Given the description of an element on the screen output the (x, y) to click on. 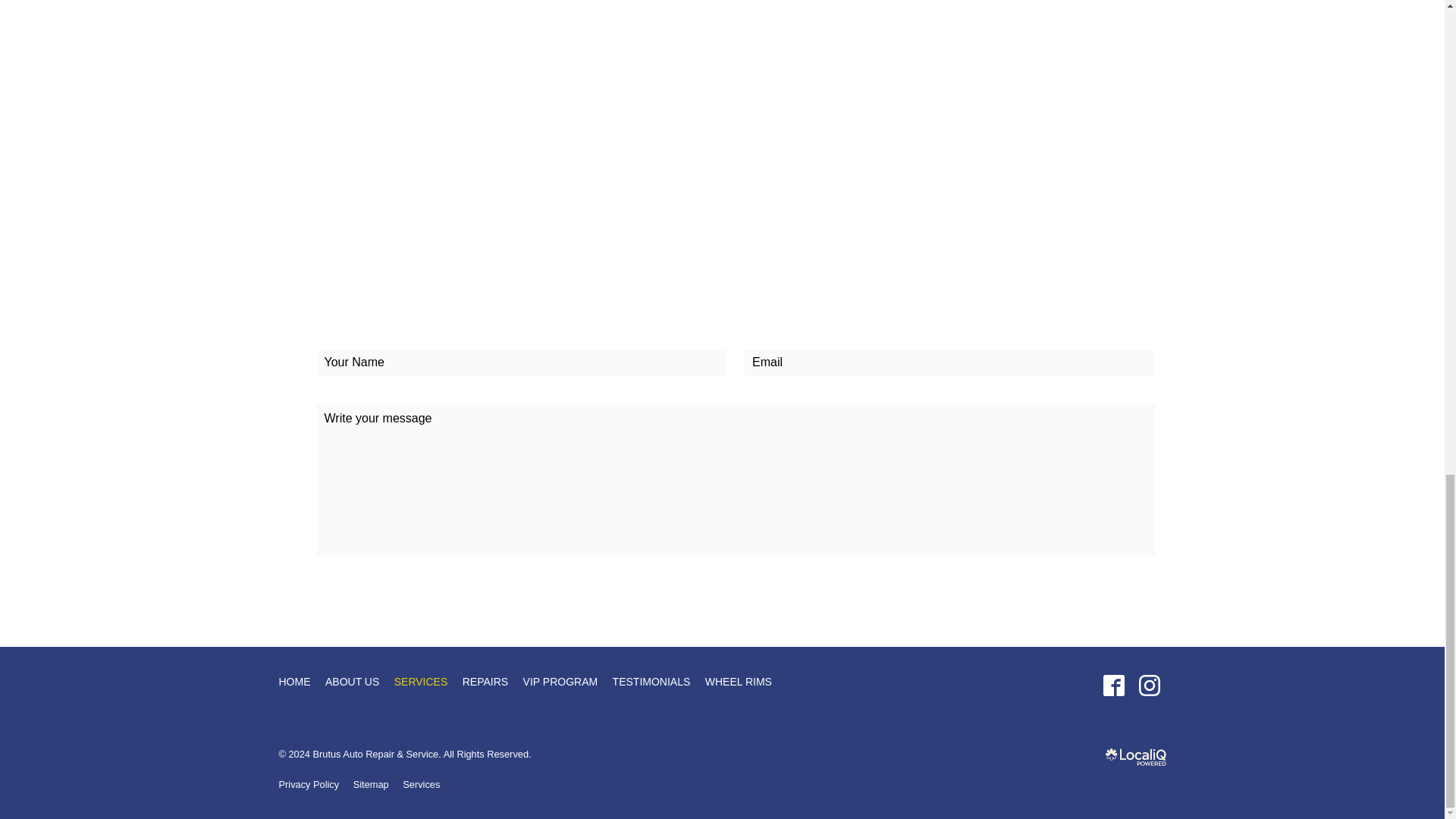
facebook (1113, 685)
Submit (343, 590)
instagram (1149, 685)
